Given the description of an element on the screen output the (x, y) to click on. 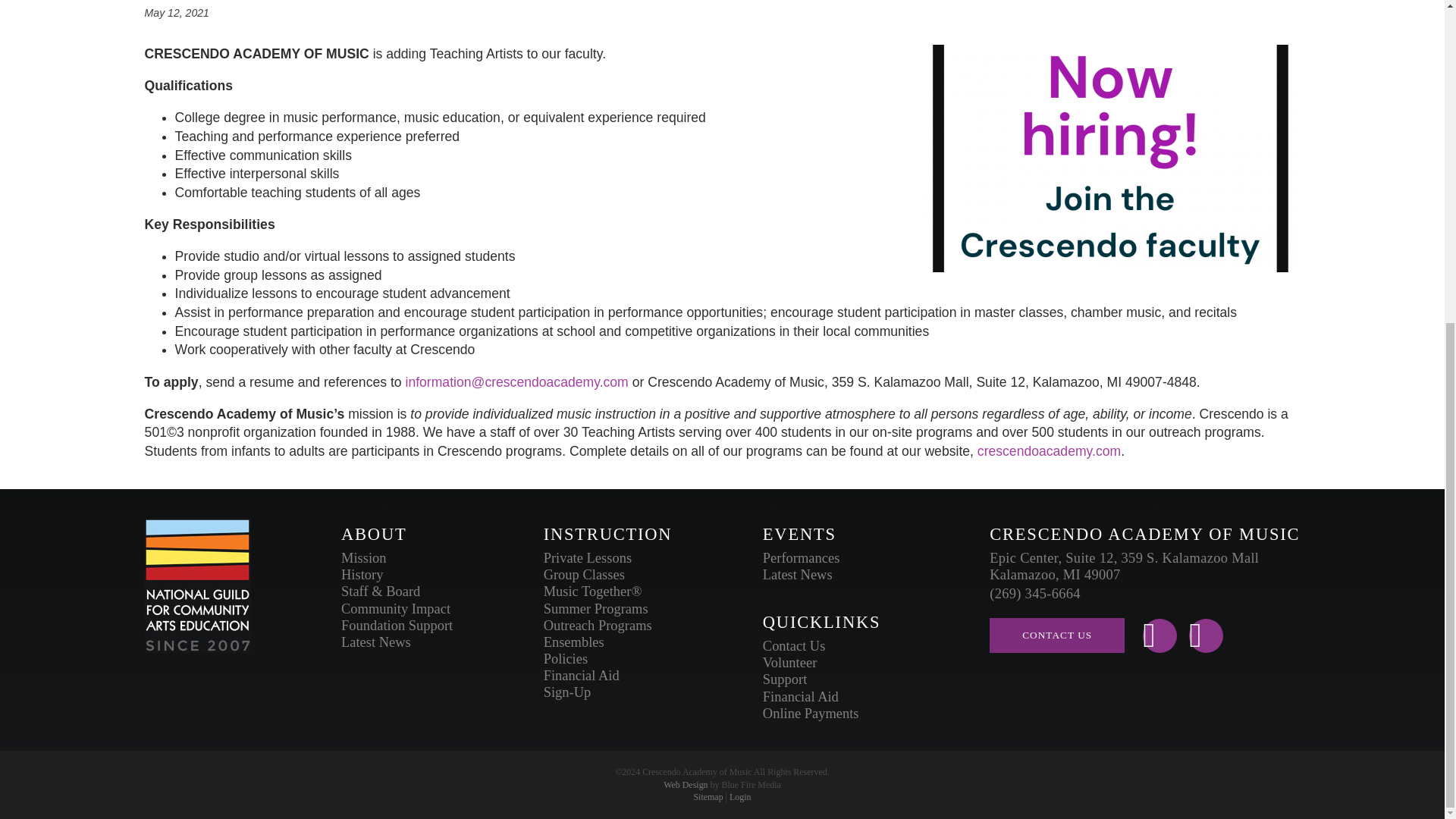
Outreach Programs (597, 625)
Community Impact (394, 608)
Ensembles (573, 642)
Latest News (375, 642)
Private Lessons (587, 557)
Financial Aid (581, 675)
History (361, 574)
Latest News (375, 642)
crescendoacademy.com (1048, 450)
Foundation Support (396, 625)
